Given the description of an element on the screen output the (x, y) to click on. 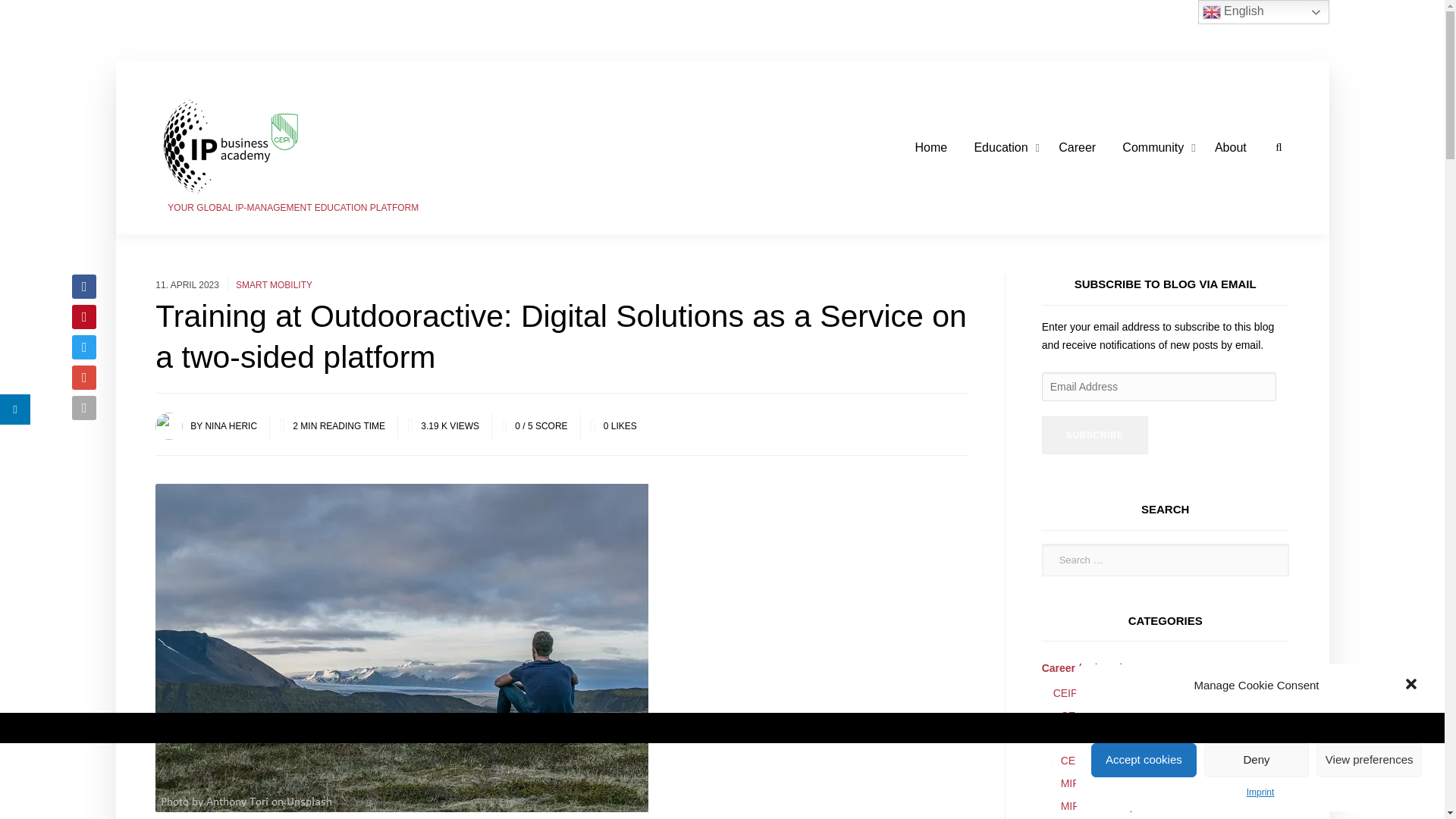
Accept cookies (1143, 759)
Career (1077, 147)
Education (1002, 147)
Imprint (1260, 792)
Deny (1256, 759)
View preferences (1369, 759)
YOUR GLOBAL IP-MANAGEMENT EDUCATION PLATFORM (287, 147)
Home (930, 147)
